Given the description of an element on the screen output the (x, y) to click on. 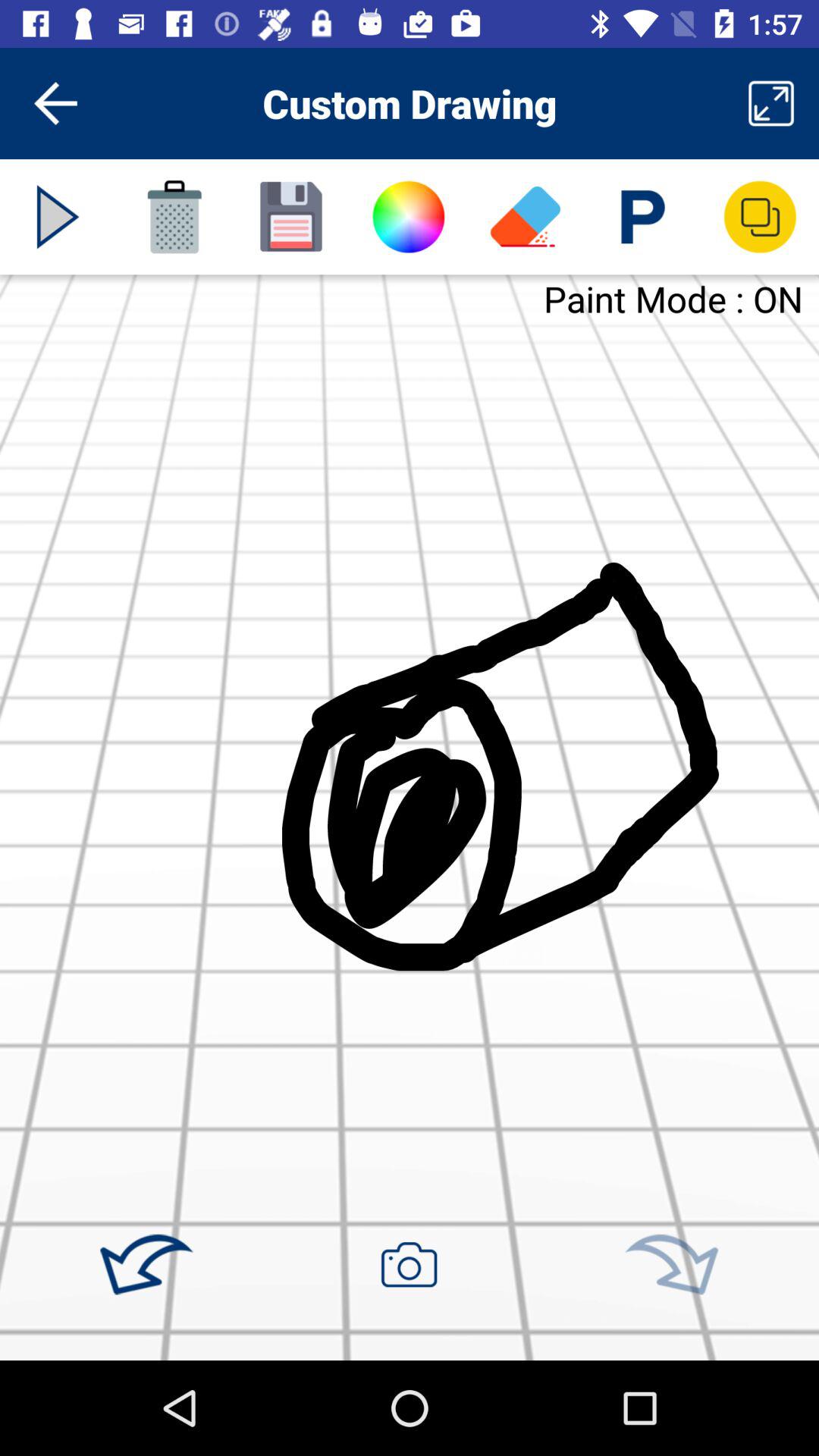
erase drawing (525, 216)
